Given the description of an element on the screen output the (x, y) to click on. 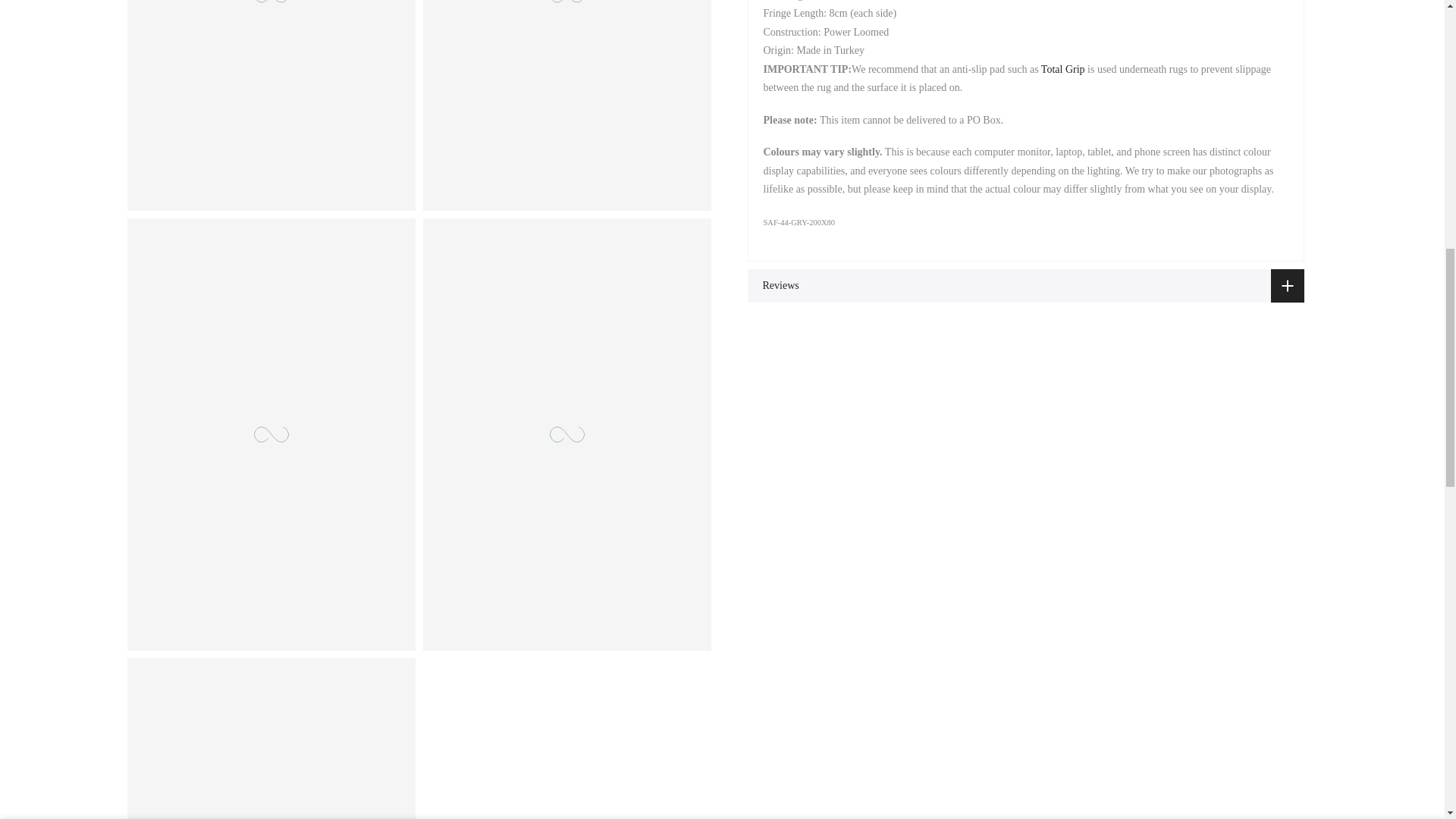
1 (1153, 35)
Reviews (1026, 286)
Total Grip (1062, 69)
